Given the description of an element on the screen output the (x, y) to click on. 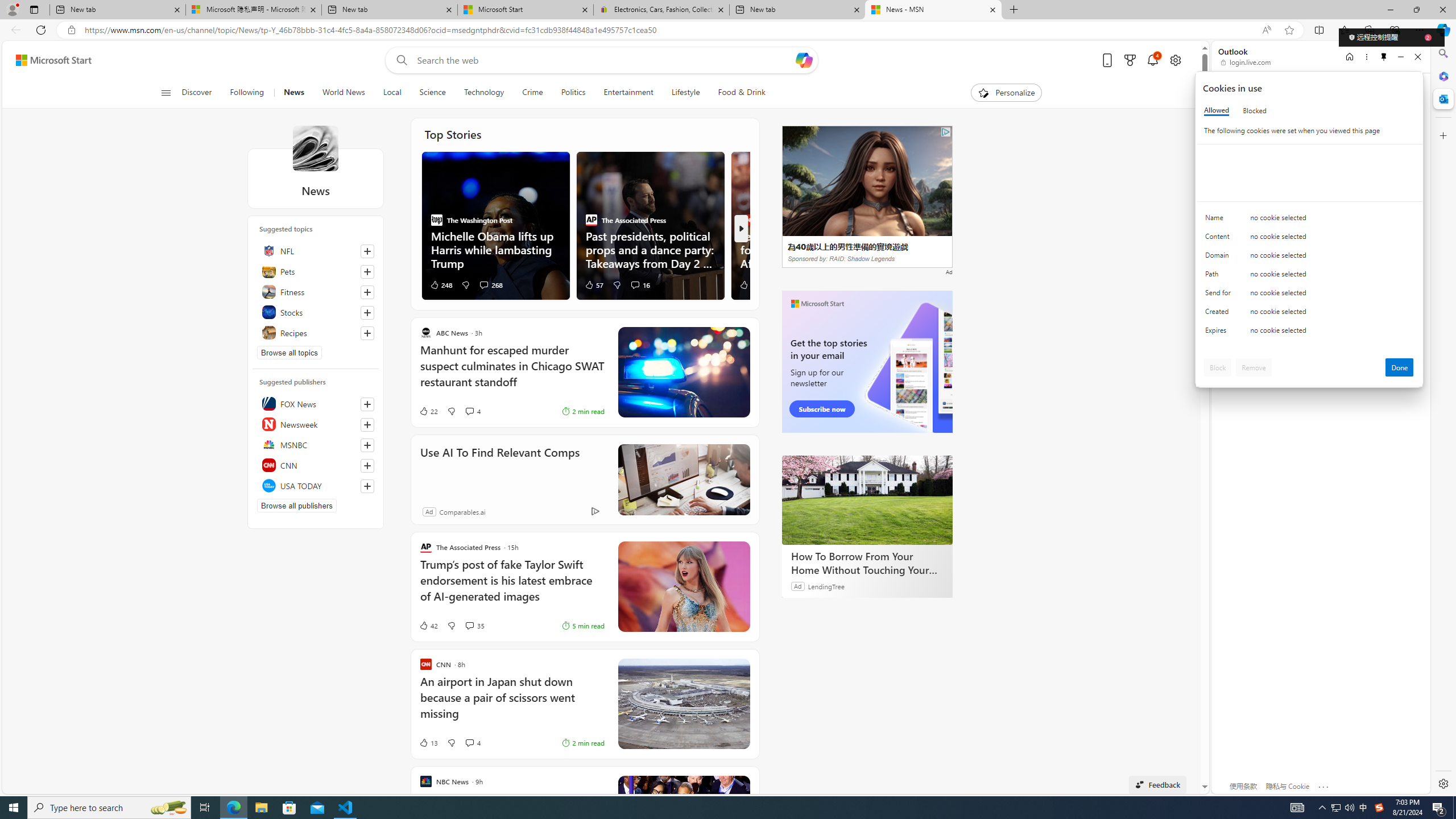
Expires (1219, 332)
Jennifer Lopez has filed for divorce from Ben Affleck (804, 249)
Remove (1253, 367)
Police lights on a street at night. (683, 371)
News - MSN (933, 9)
